Given the description of an element on the screen output the (x, y) to click on. 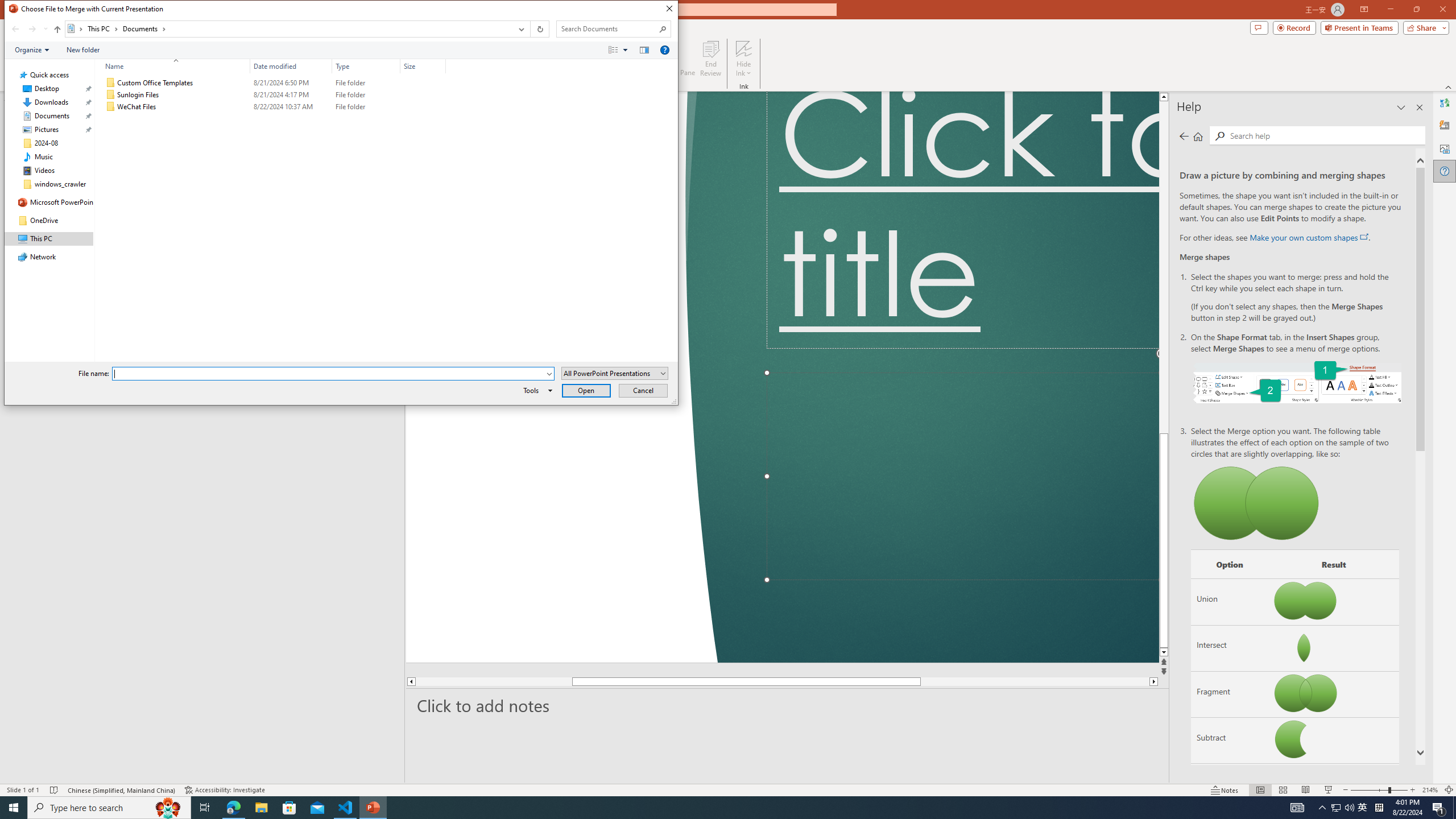
Alt Text (1444, 147)
File name: (329, 373)
Up band toolbar (57, 30)
Views (620, 49)
Back (Alt + Left Arrow) (15, 28)
End Review (710, 58)
Union (1229, 601)
On the Shape Format tab, select Merge Shapes. (1296, 381)
